Given the description of an element on the screen output the (x, y) to click on. 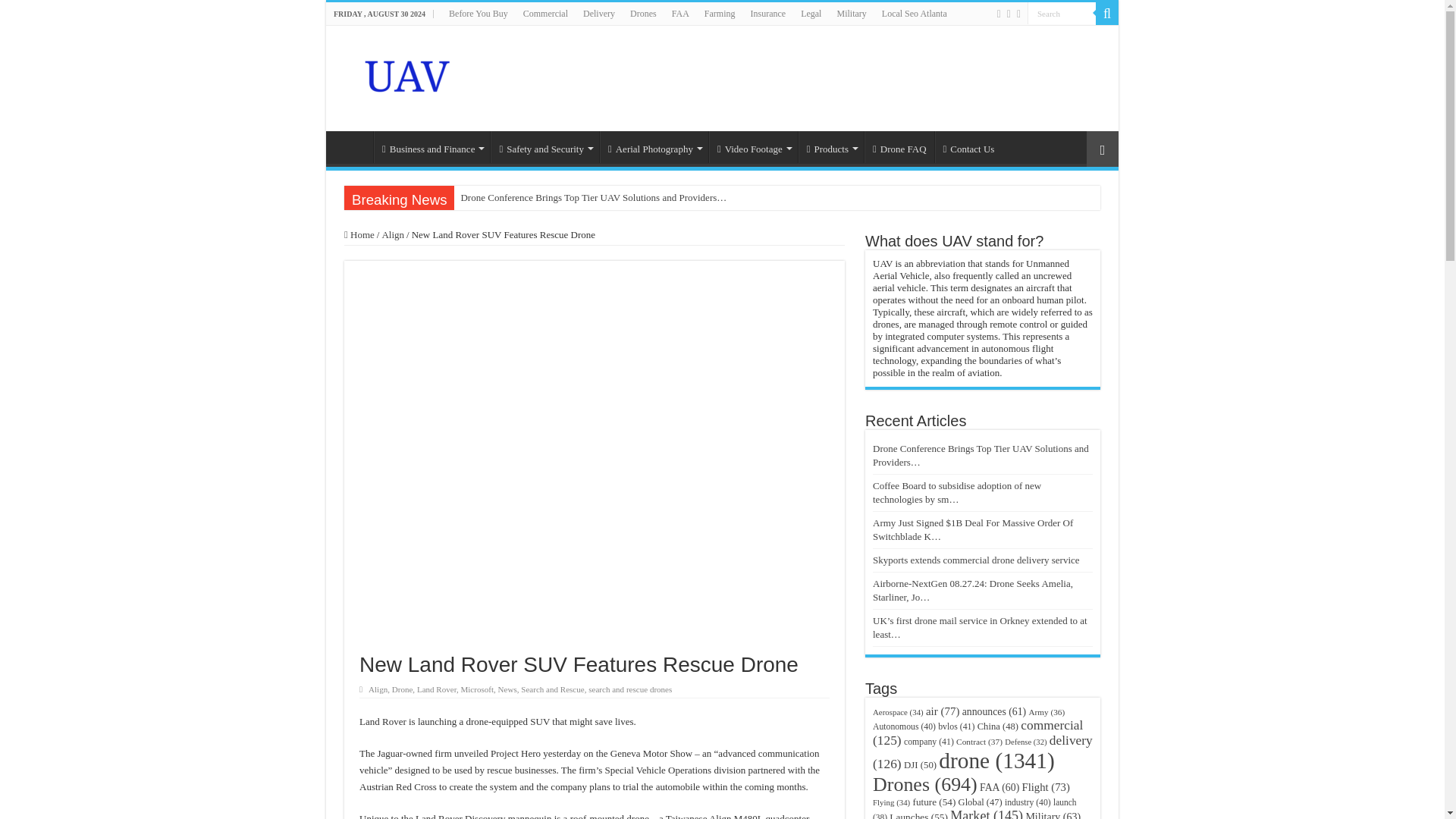
Safety and Security (544, 146)
Before You Buy (478, 13)
Search (1107, 13)
Delivery (599, 13)
Business and Finance (431, 146)
Insurance (767, 13)
Drones (643, 13)
Search (1061, 13)
Commercial (545, 13)
Search (1061, 13)
